Given the description of an element on the screen output the (x, y) to click on. 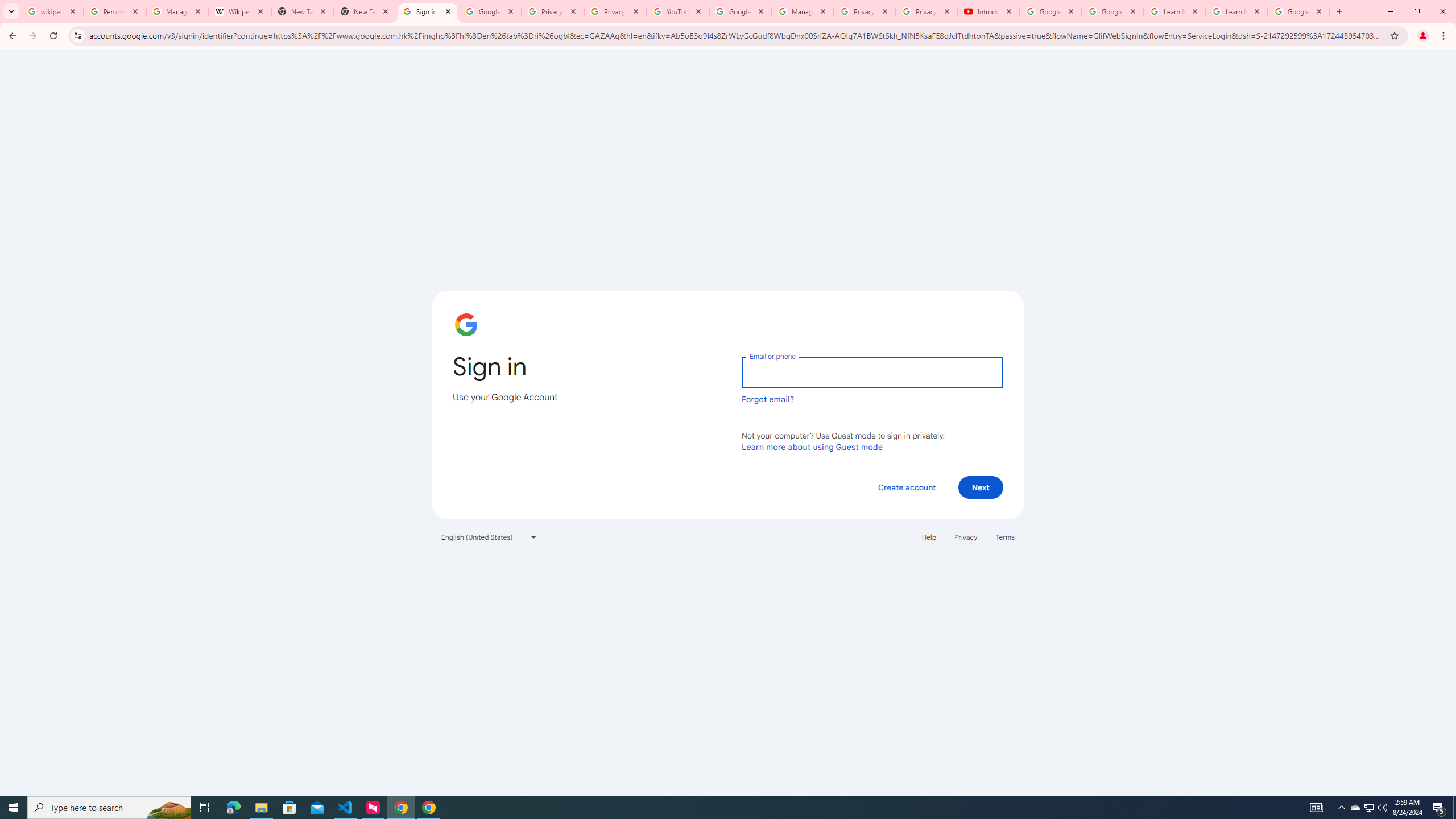
Personalization & Google Search results - Google Search Help (114, 11)
Google Account Help (1050, 11)
Introduction | Google Privacy Policy - YouTube (988, 11)
Google Drive: Sign-in (490, 11)
